Given the description of an element on the screen output the (x, y) to click on. 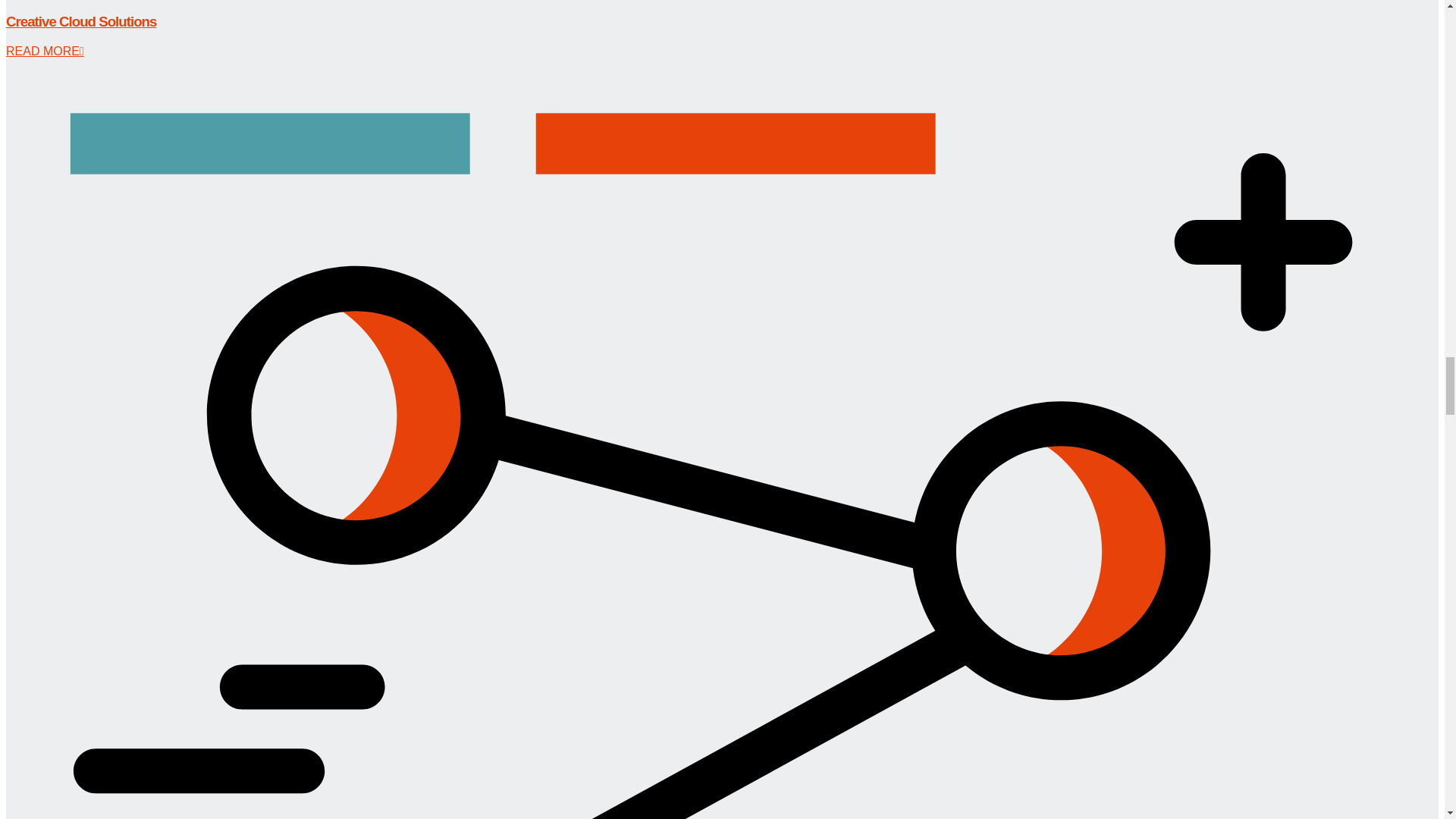
READ MORE (44, 51)
Creative Cloud Solutions (80, 21)
READ MORE (44, 51)
Creative Cloud Solutions (80, 21)
